Given the description of an element on the screen output the (x, y) to click on. 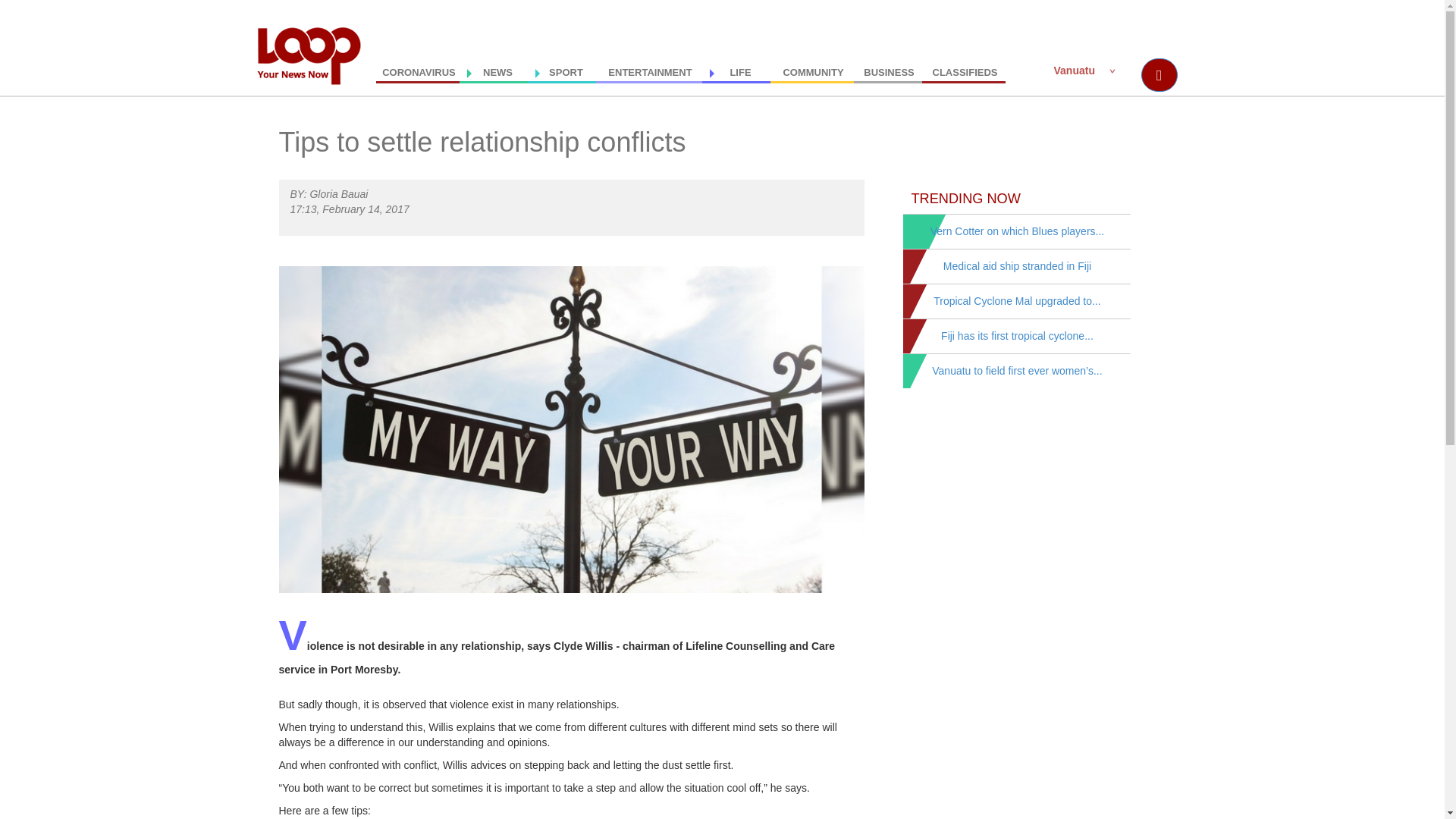
NEWS (493, 69)
SPORT (561, 69)
Go (14, 11)
Medical aid ship stranded in Fiji (1016, 265)
Vern Cotter on which Blues players... (1017, 231)
Home (313, 55)
Tropical Cyclone Mal upgraded to... (1016, 300)
Fiji has its first tropical cyclone... (1016, 336)
CLASSIFIEDS (963, 69)
ENTERTAINMENT (648, 69)
Enter the terms you wish to search for. (1129, 71)
BUSINESS (887, 69)
COMMUNITY (811, 69)
